Given the description of an element on the screen output the (x, y) to click on. 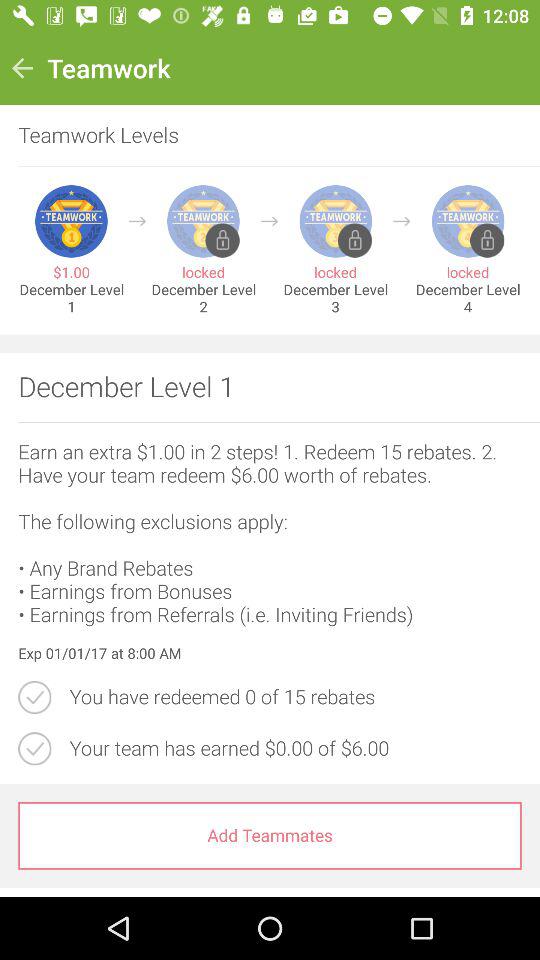
turn off the item above december level 2 item (269, 221)
